Given the description of an element on the screen output the (x, y) to click on. 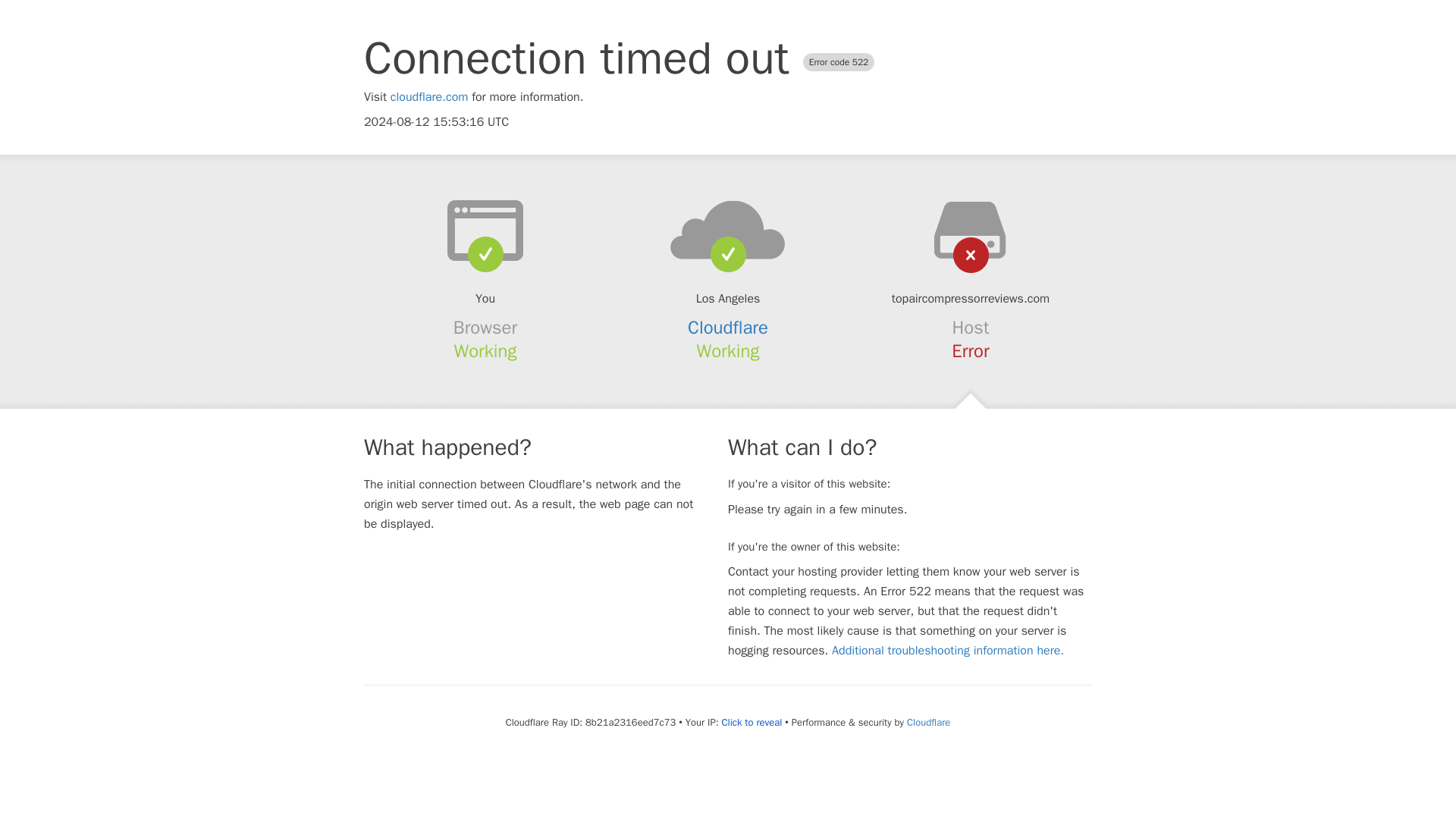
Click to reveal (750, 722)
Cloudflare (928, 721)
Cloudflare (727, 327)
cloudflare.com (429, 96)
Additional troubleshooting information here. (947, 650)
